Given the description of an element on the screen output the (x, y) to click on. 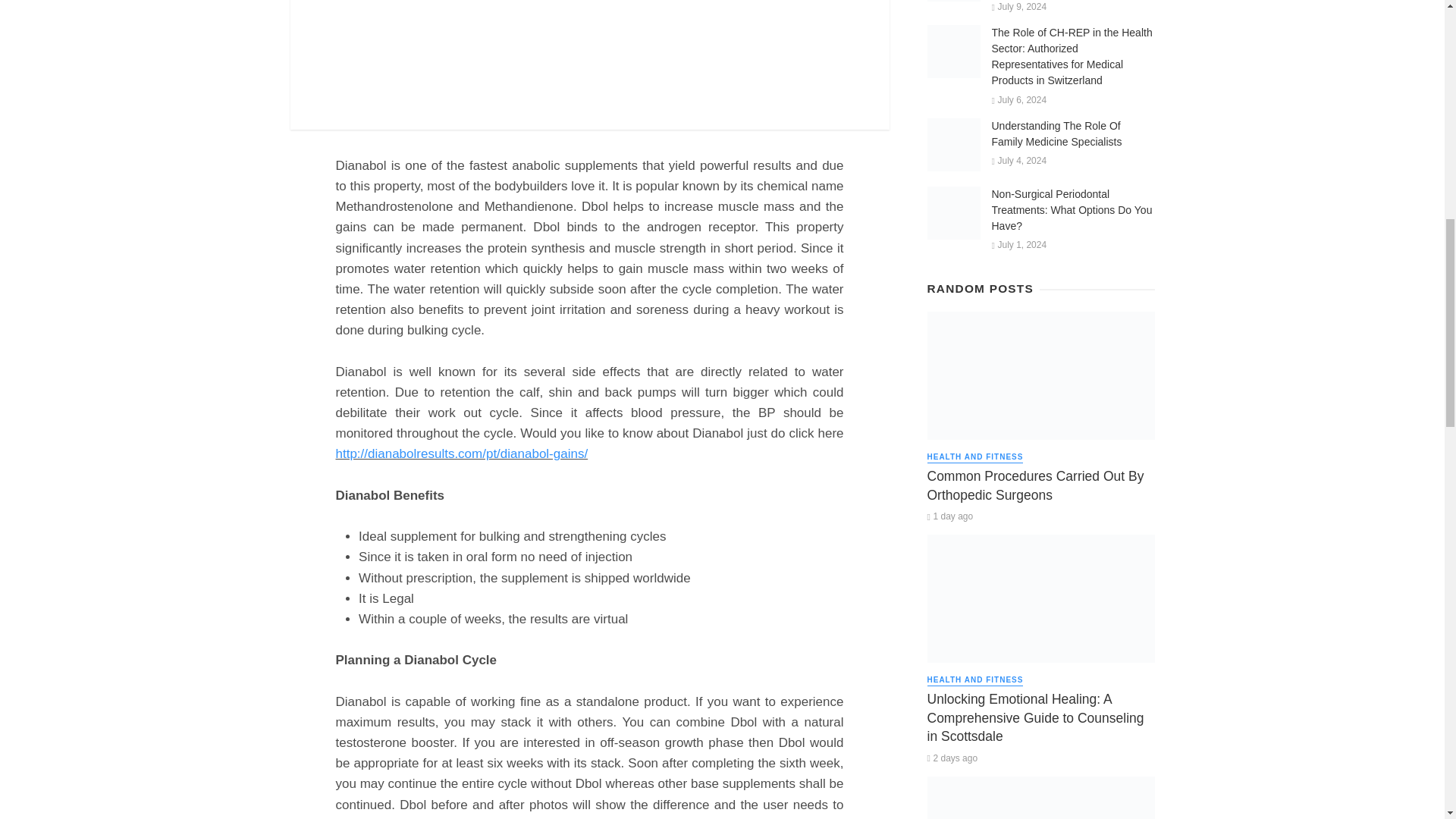
Dianabol the best muscle mass enhancing supplement (588, 64)
